Given the description of an element on the screen output the (x, y) to click on. 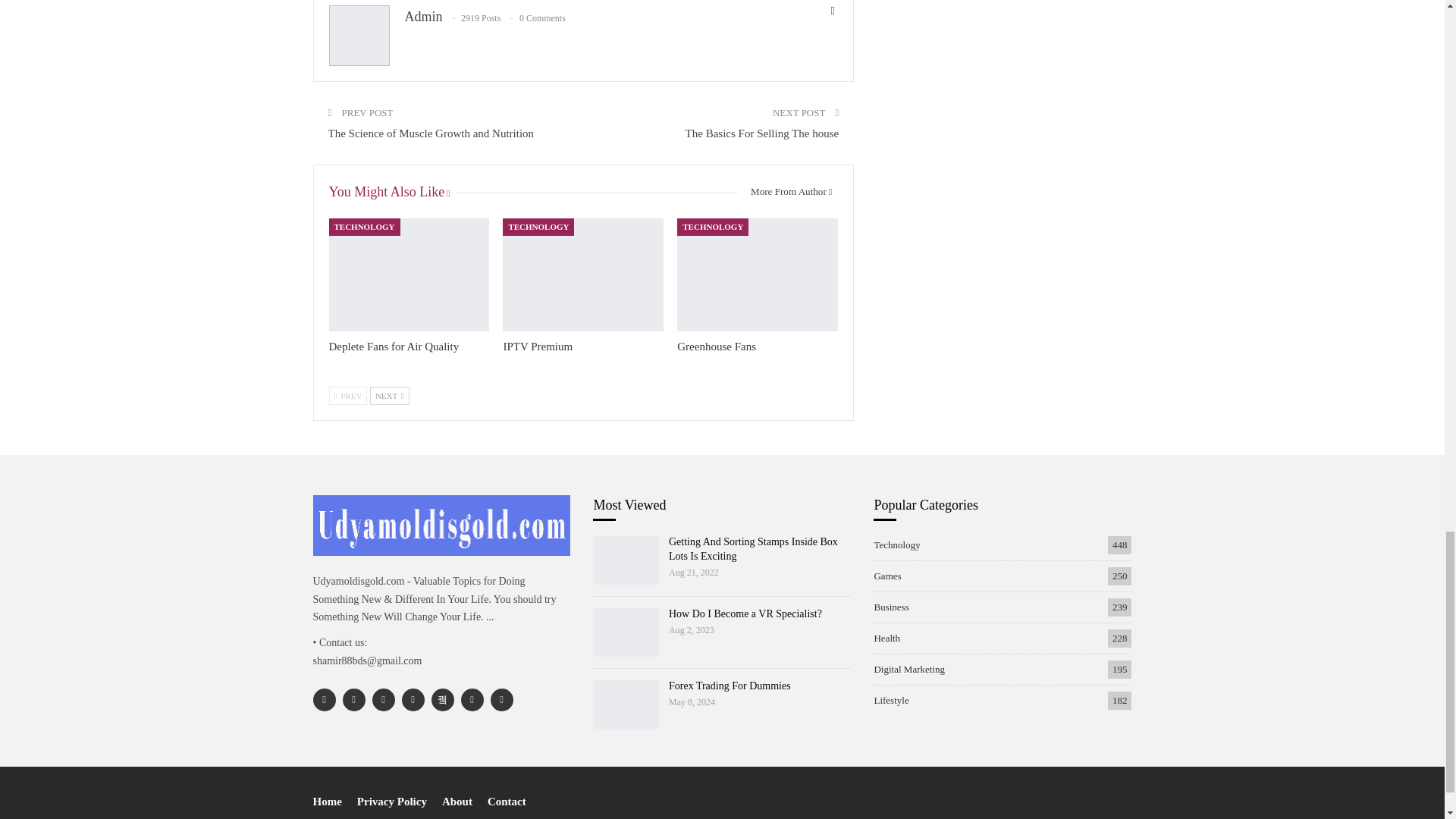
IPTV Premium (582, 274)
Deplete Fans for Air Quality (394, 346)
Deplete Fans for Air Quality (409, 274)
IPTV Premium (537, 346)
